Given the description of an element on the screen output the (x, y) to click on. 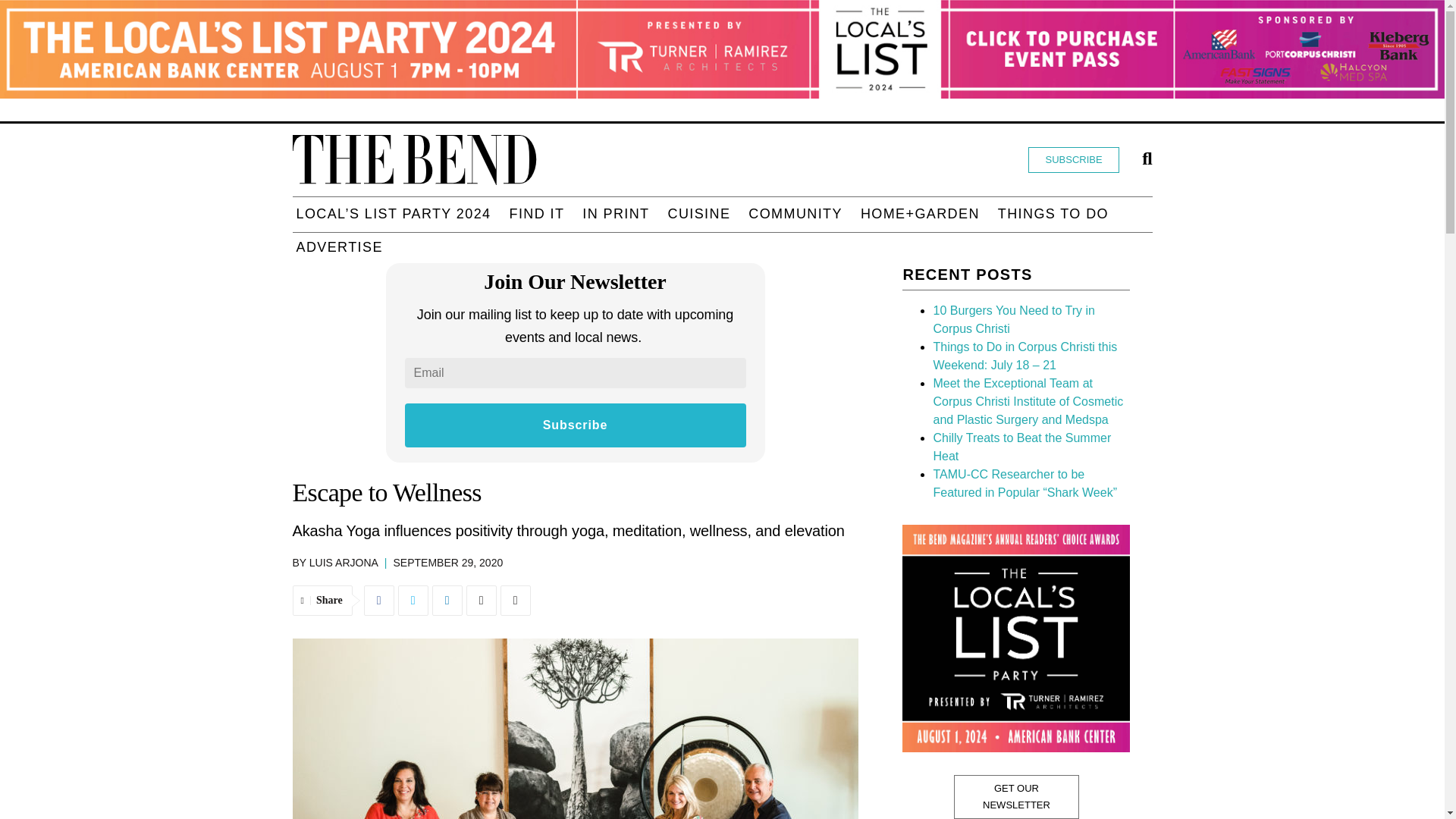
Cuisine (699, 213)
Local's List Party 2024 (393, 213)
Find It (536, 213)
In Print (615, 213)
